Given the description of an element on the screen output the (x, y) to click on. 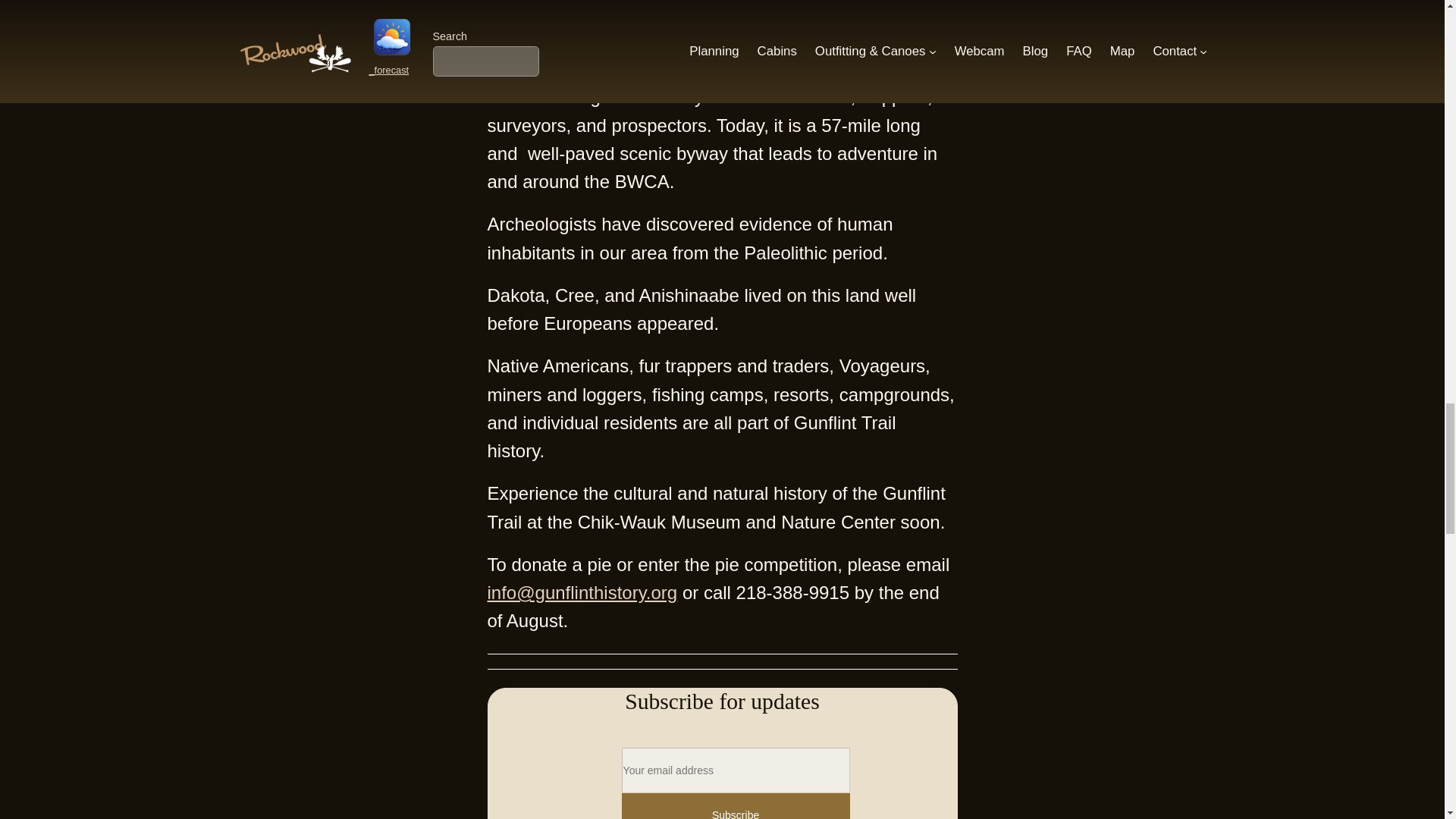
Subscribe (735, 806)
Subscribe (735, 806)
